Given the description of an element on the screen output the (x, y) to click on. 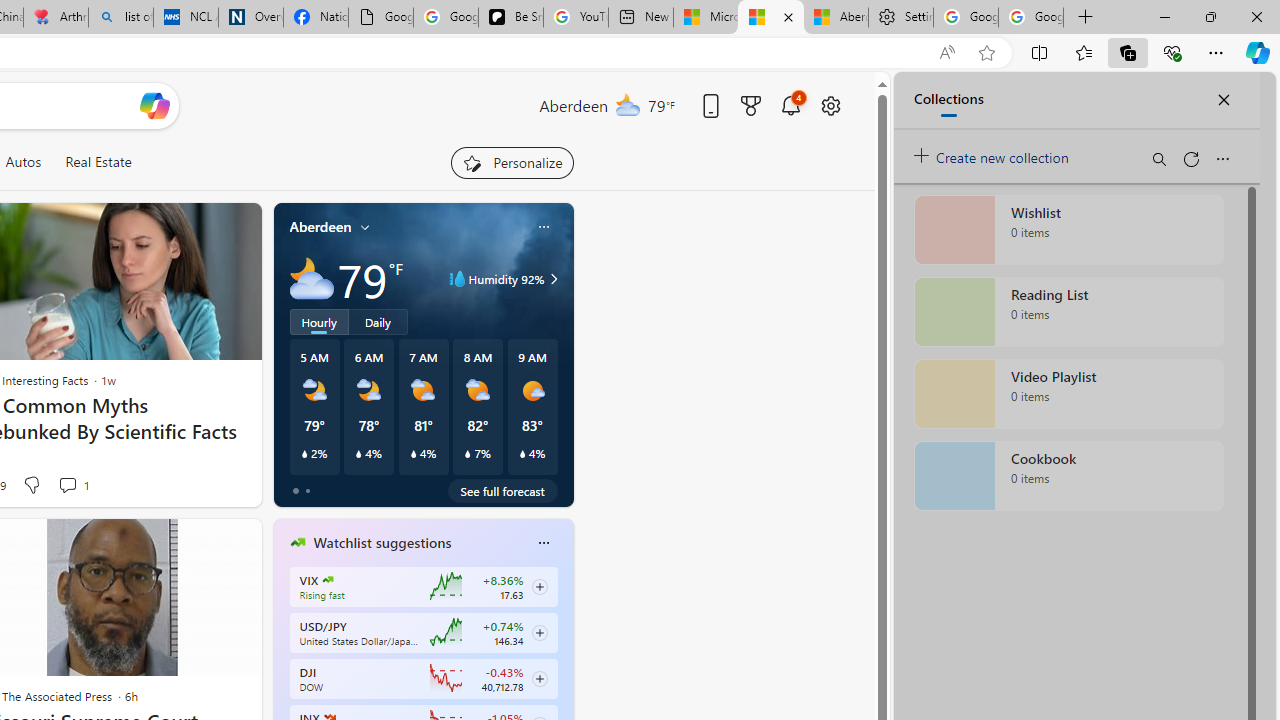
View comments 1 Comment (67, 485)
See more (237, 542)
